Given the description of an element on the screen output the (x, y) to click on. 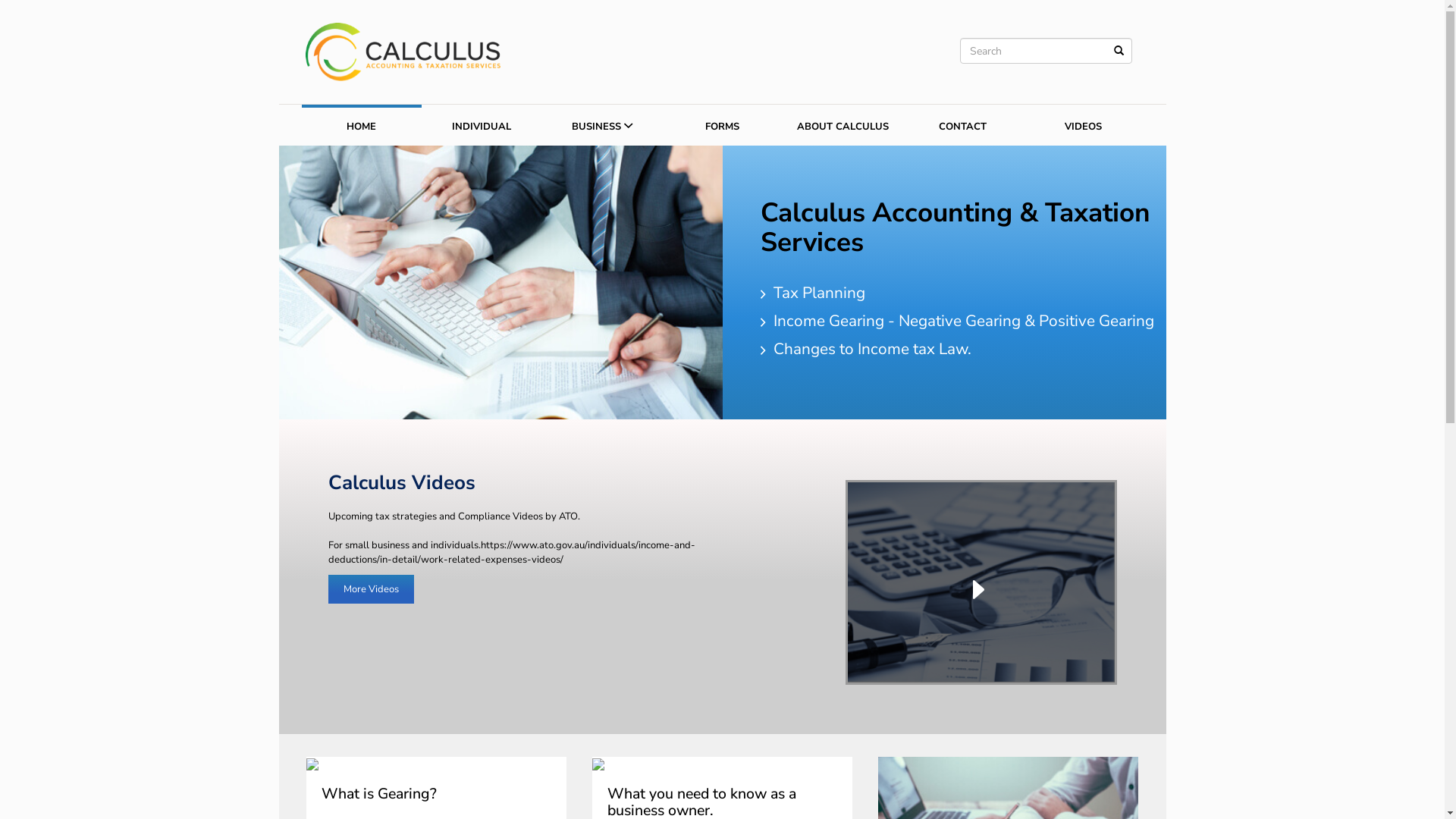
CONTACT Element type: text (962, 124)
More Videos Element type: text (370, 588)
HOME Element type: text (361, 124)
Tax Planning Element type: text (815, 294)
ABOUT CALCULUS Element type: text (842, 124)
BUSINESS  Element type: text (602, 124)
Income Gearing - Negative Gearing & Positive Gearing Element type: text (959, 322)
INDIVIDUAL Element type: text (481, 124)
Changes to Income tax Law. Element type: text (868, 350)
VIDEOS Element type: text (1082, 124)
FORMS Element type: text (722, 124)
